Given the description of an element on the screen output the (x, y) to click on. 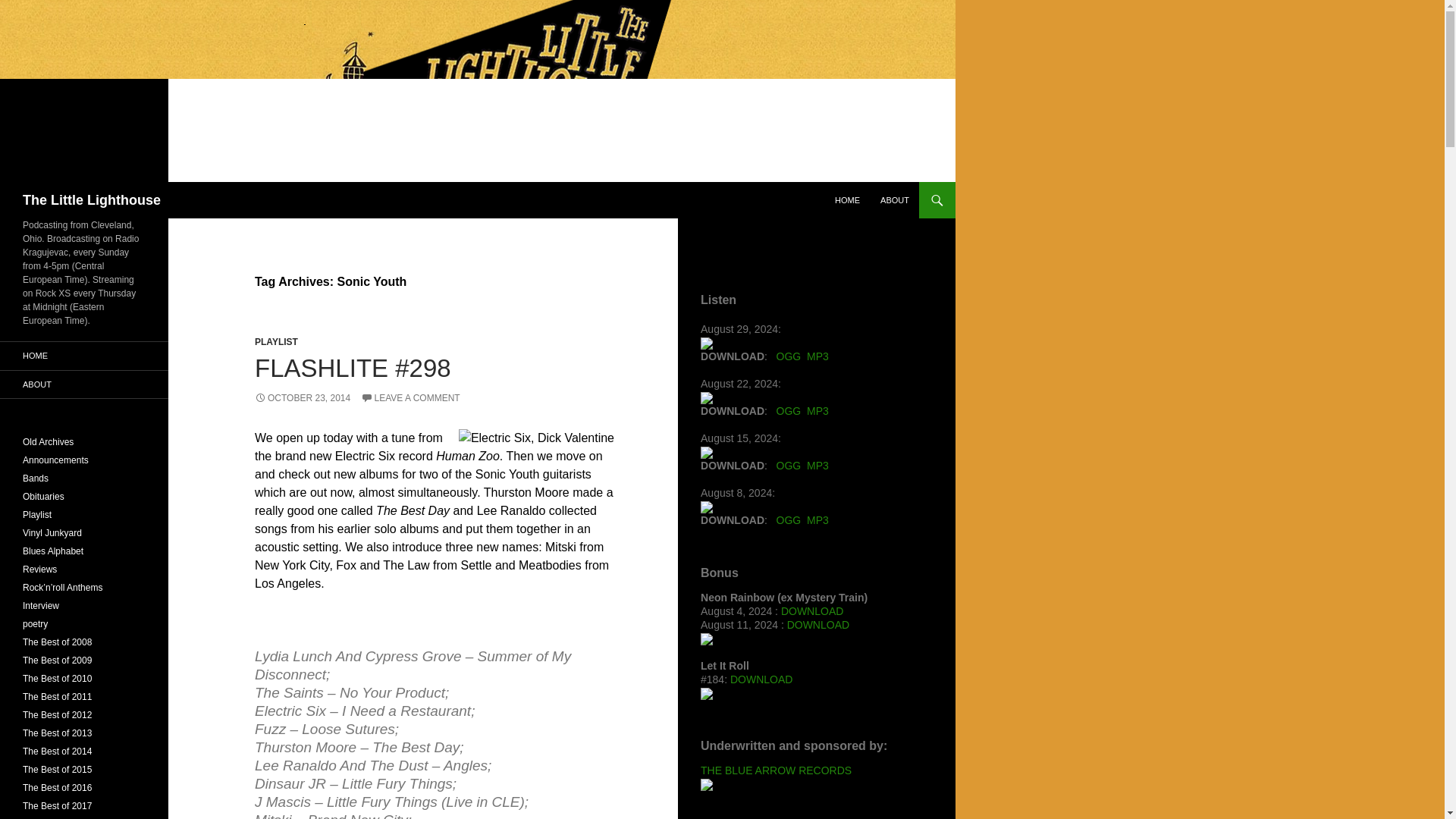
LEAVE A COMMENT (410, 398)
PLAYLIST (276, 341)
The Little Lighthouse (91, 199)
ABOUT (894, 199)
HOME (847, 199)
OCTOBER 23, 2014 (302, 398)
